Given the description of an element on the screen output the (x, y) to click on. 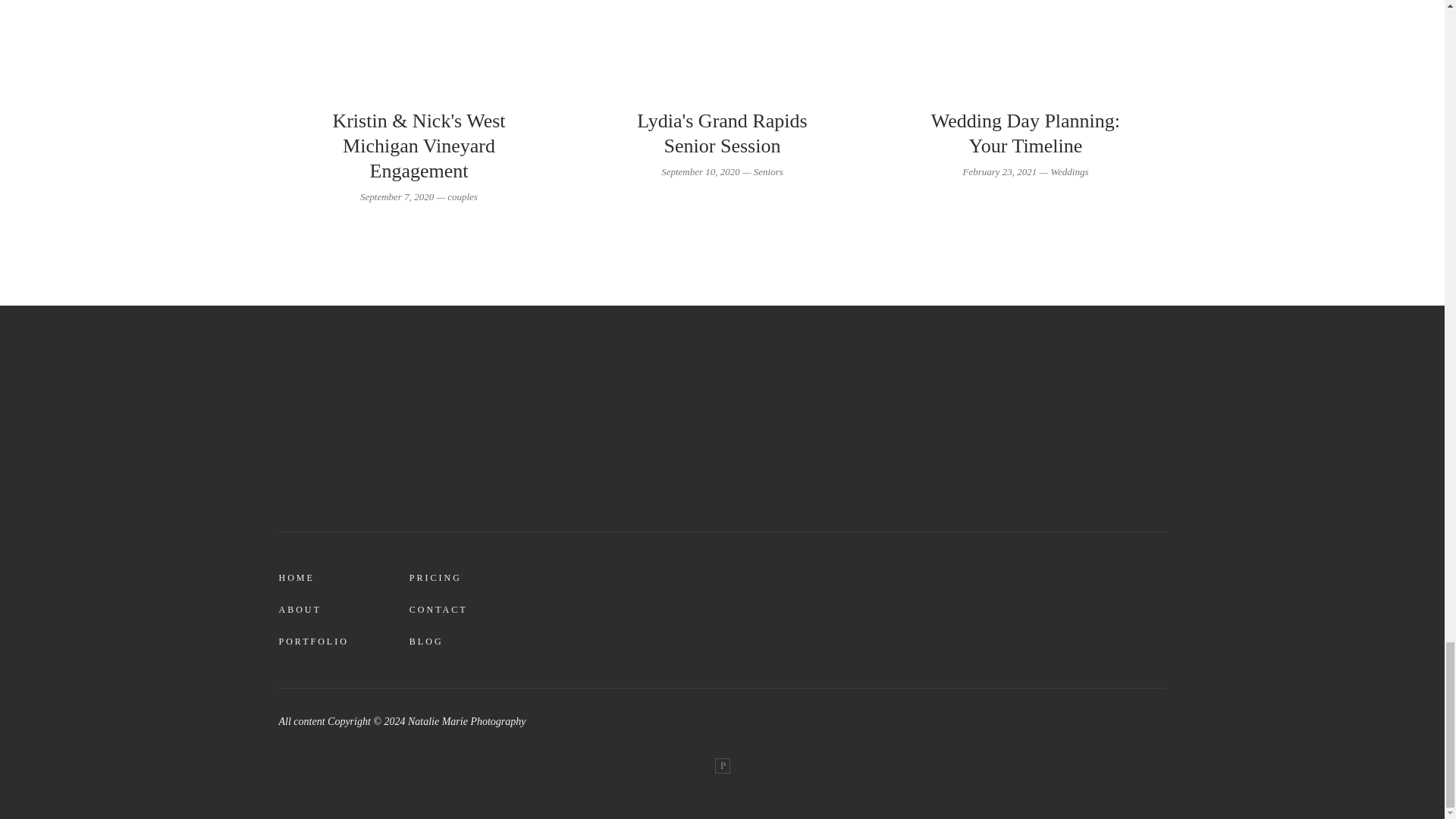
Seniors (768, 171)
couples (461, 196)
Weddings (1068, 171)
